Given the description of an element on the screen output the (x, y) to click on. 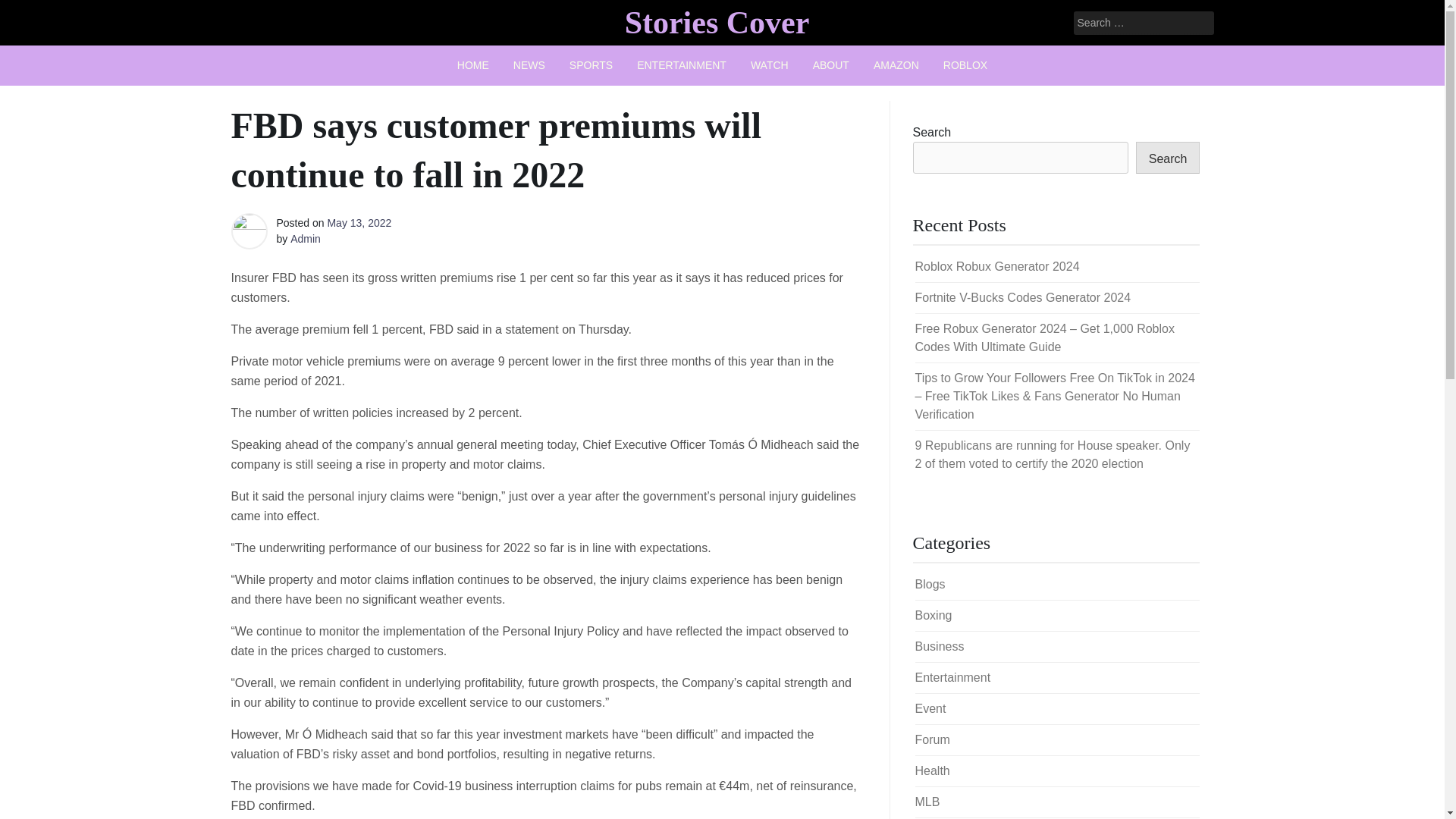
AMAZON (896, 65)
Search (32, 12)
May 13, 2022 (358, 223)
NEWS (528, 65)
ABOUT (830, 65)
WATCH (769, 65)
ENTERTAINMENT (681, 65)
ROBLOX (964, 65)
Stories Cover (716, 22)
HOME (472, 65)
SPORTS (590, 65)
Admin (304, 238)
